Given the description of an element on the screen output the (x, y) to click on. 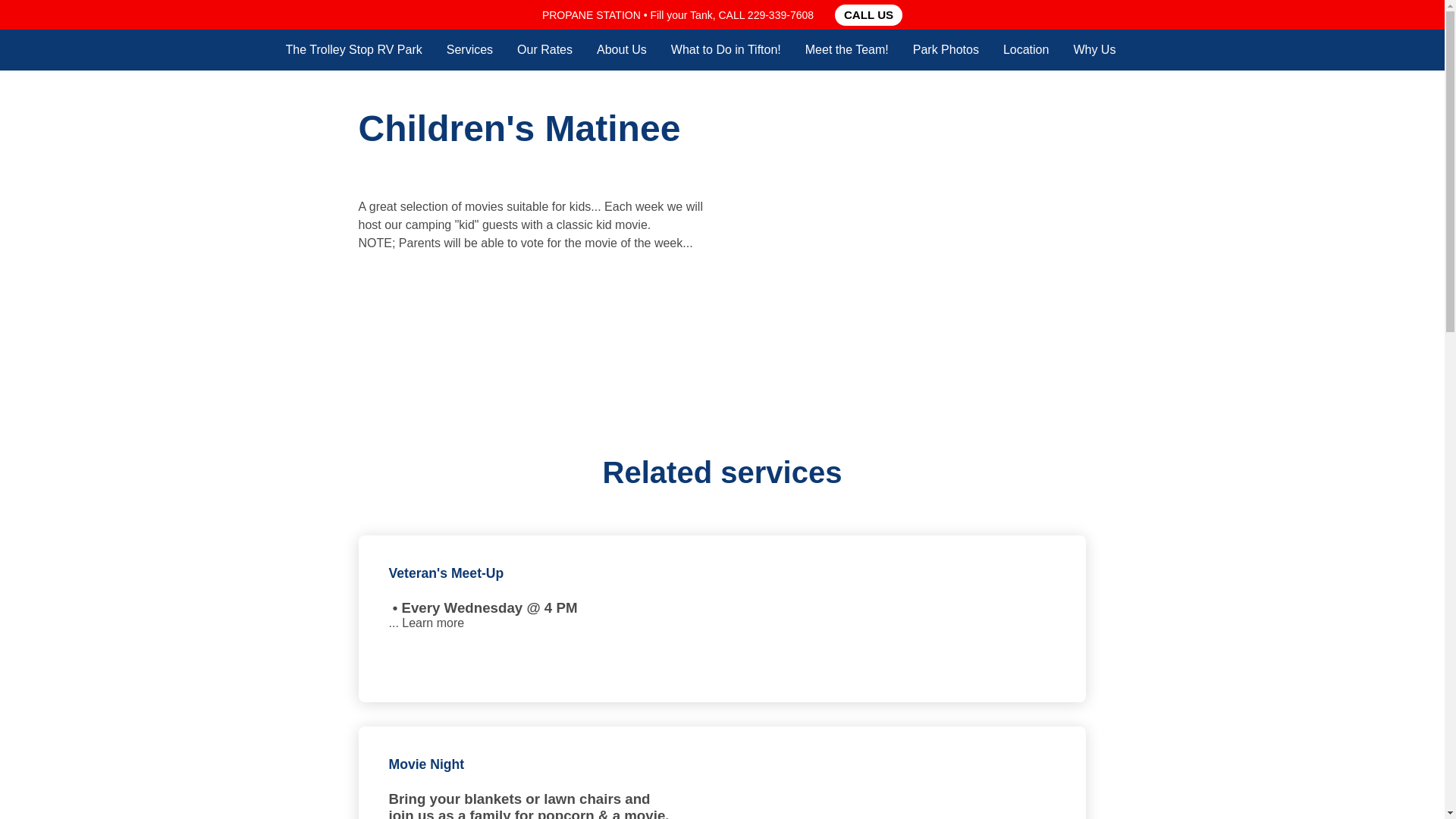
Park Photos (945, 49)
Services (469, 49)
CALL US (868, 14)
Why Us (1094, 49)
Our Rates (544, 49)
Location (1026, 49)
What to Do in Tifton! (725, 49)
Meet the Team! (846, 49)
The Trolley Stop RV Park (353, 49)
About Us (621, 49)
